Given the description of an element on the screen output the (x, y) to click on. 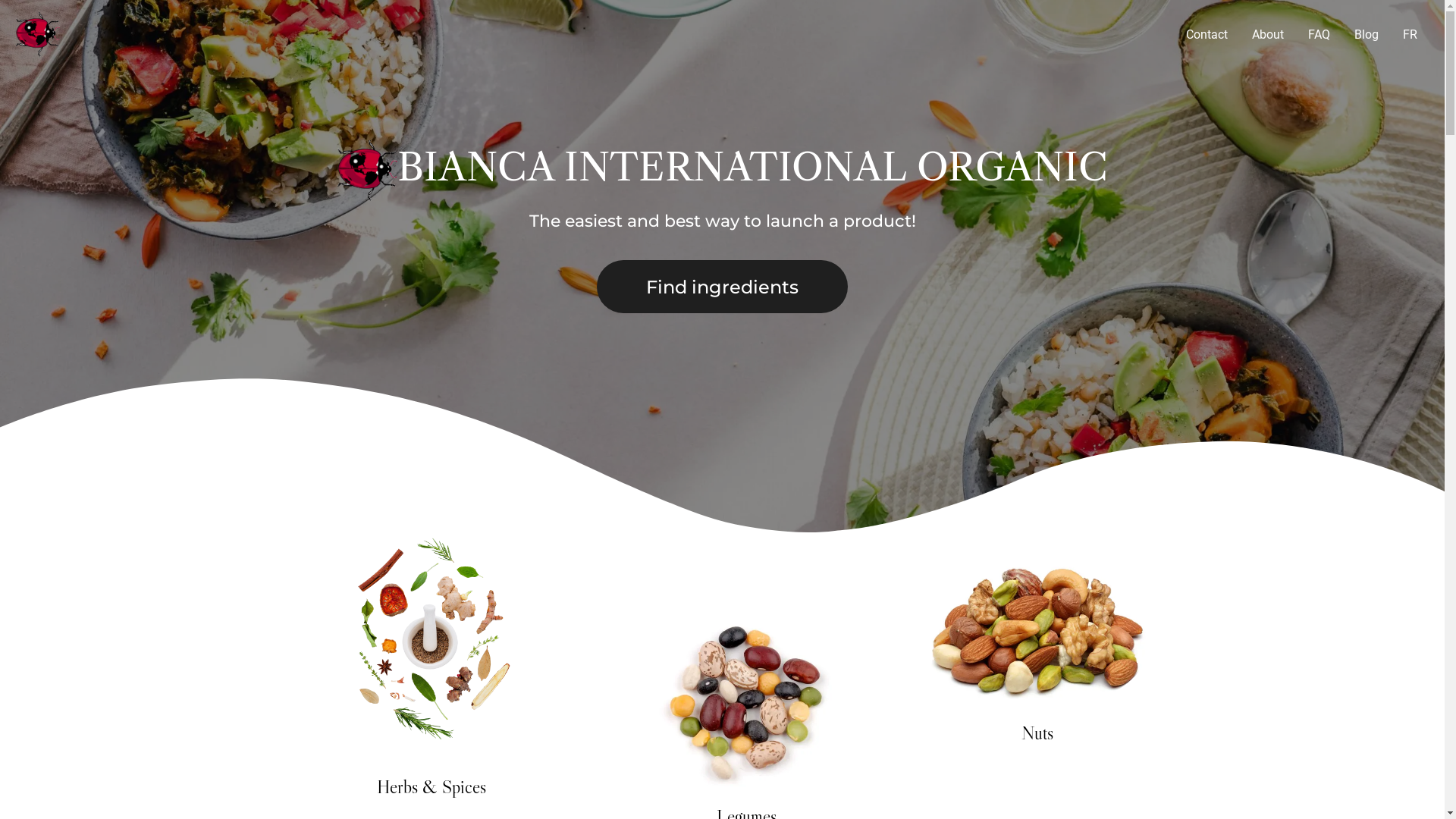
Blog Element type: text (1366, 34)
FR Element type: text (1409, 34)
About Element type: text (1267, 34)
Nuts Element type: text (1037, 732)
FAQ Element type: text (1318, 34)
Contact Element type: text (1206, 34)
Find ingredients Element type: text (721, 286)
